Given the description of an element on the screen output the (x, y) to click on. 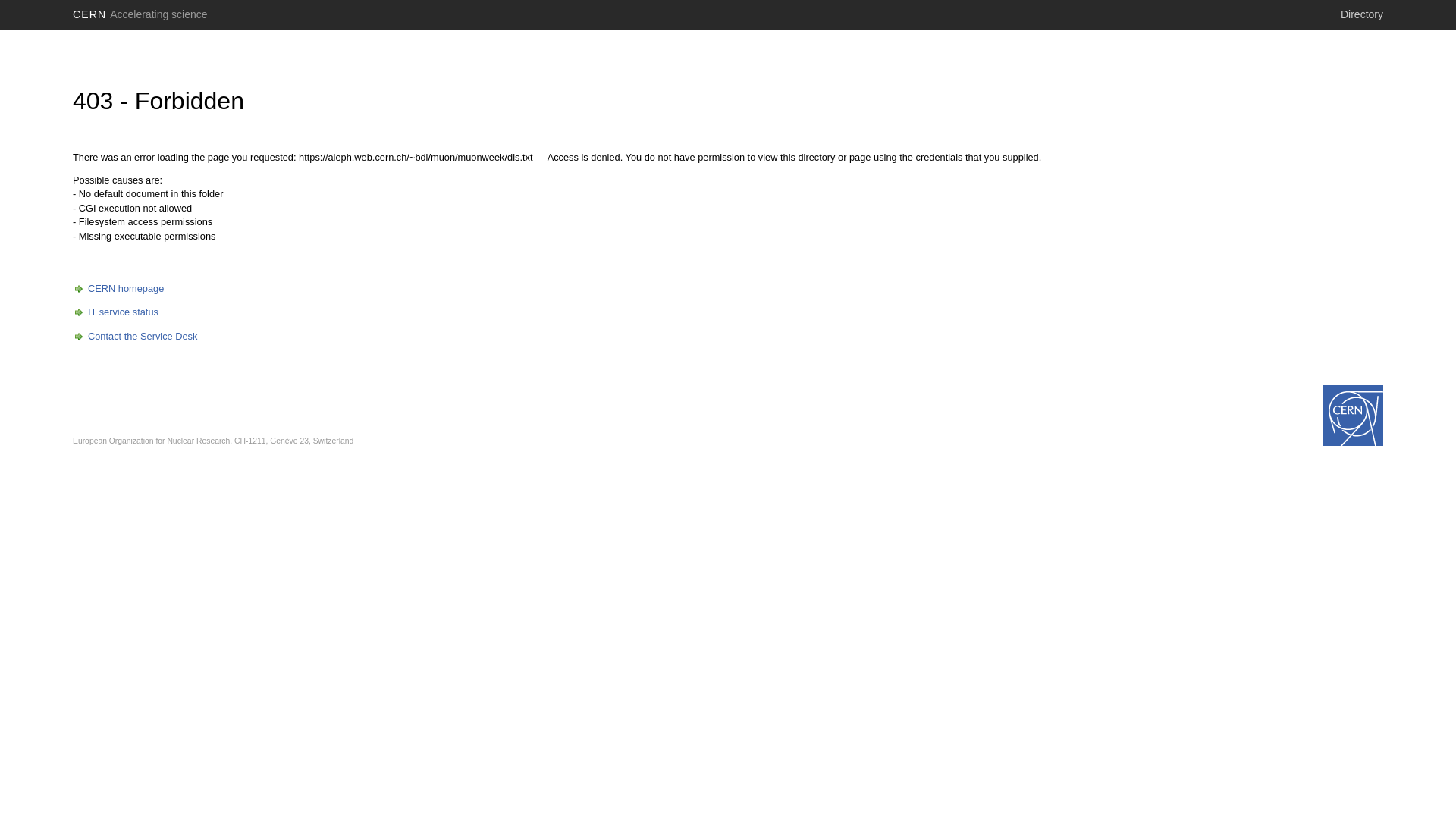
www.cern.ch Element type: hover (1352, 415)
Contact the Service Desk Element type: text (134, 336)
IT service status Element type: text (115, 311)
Directory Element type: text (1361, 14)
CERN Accelerating science Element type: text (139, 14)
CERN homepage Element type: text (117, 288)
